Given the description of an element on the screen output the (x, y) to click on. 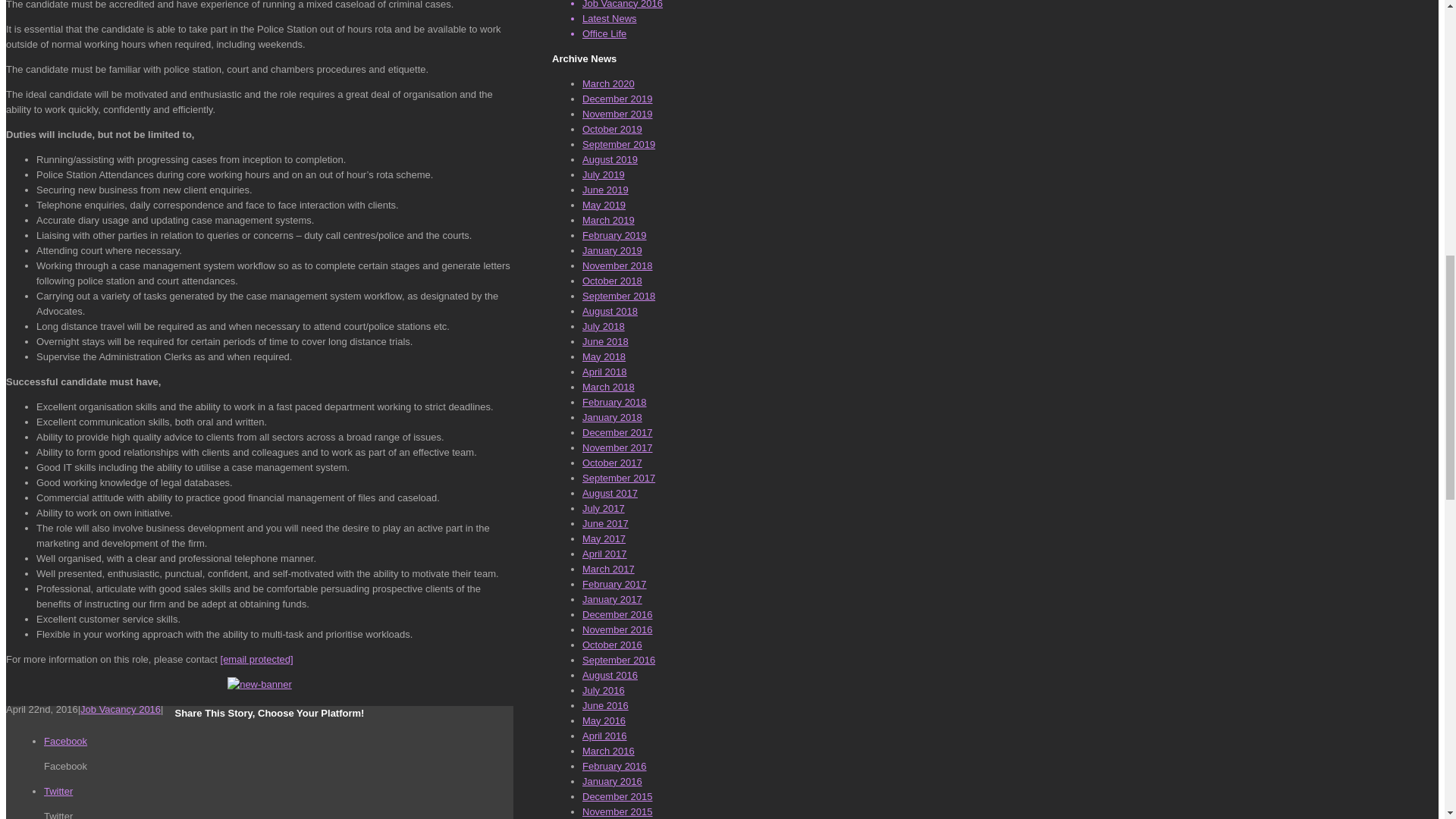
Facebook (65, 740)
Office Life (604, 33)
October 2019 (612, 129)
Twitter (57, 790)
November 2019 (617, 113)
December 2019 (617, 98)
Job Vacancy 2016 (120, 708)
Job Vacancy 2016 (622, 4)
Latest News (609, 18)
March 2020 (608, 83)
